Given the description of an element on the screen output the (x, y) to click on. 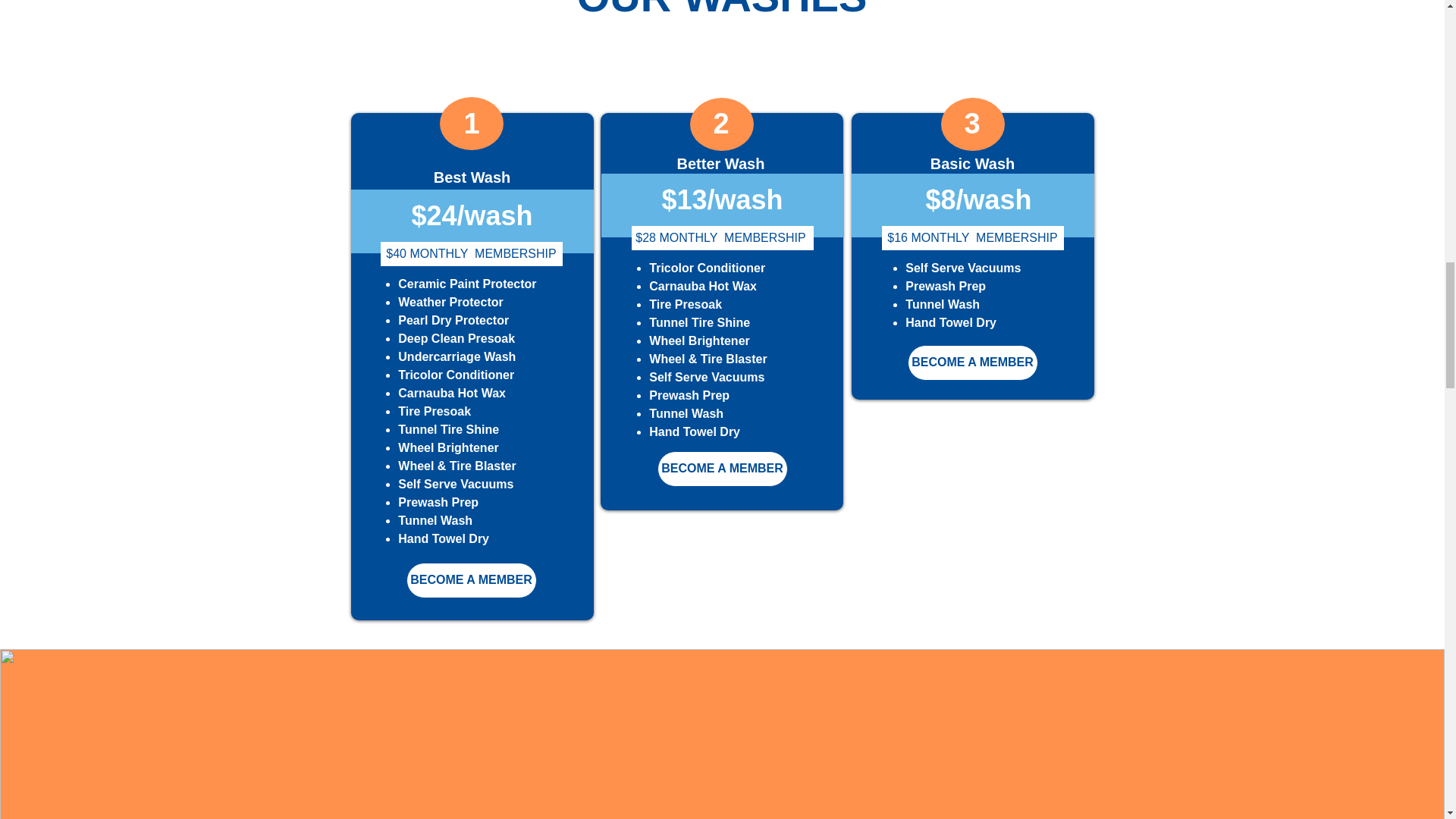
BECOME A MEMBER (721, 468)
BECOME A MEMBER (971, 362)
BECOME A MEMBER (471, 580)
